Given the description of an element on the screen output the (x, y) to click on. 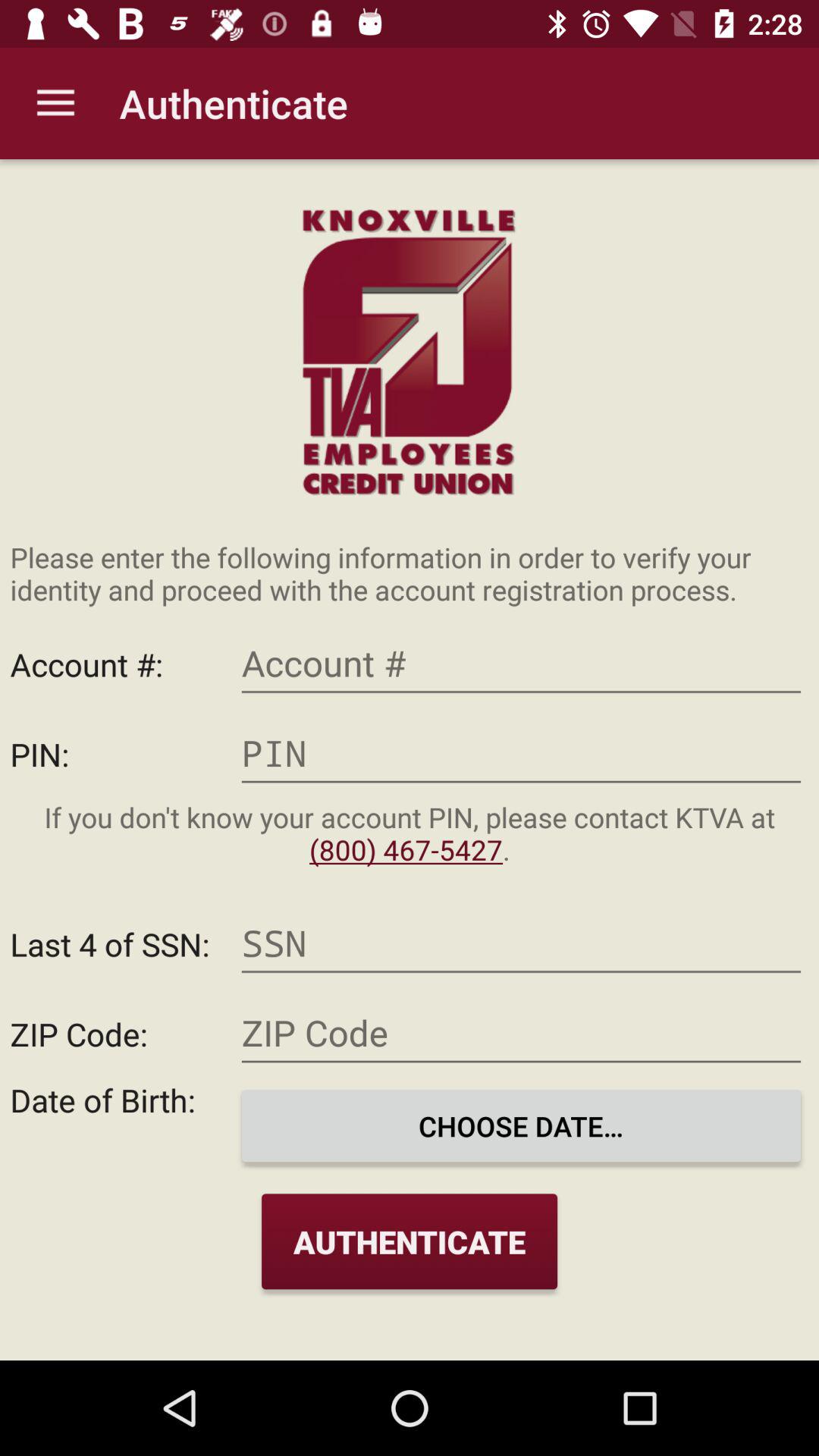
enter account number option (520, 663)
